Given the description of an element on the screen output the (x, y) to click on. 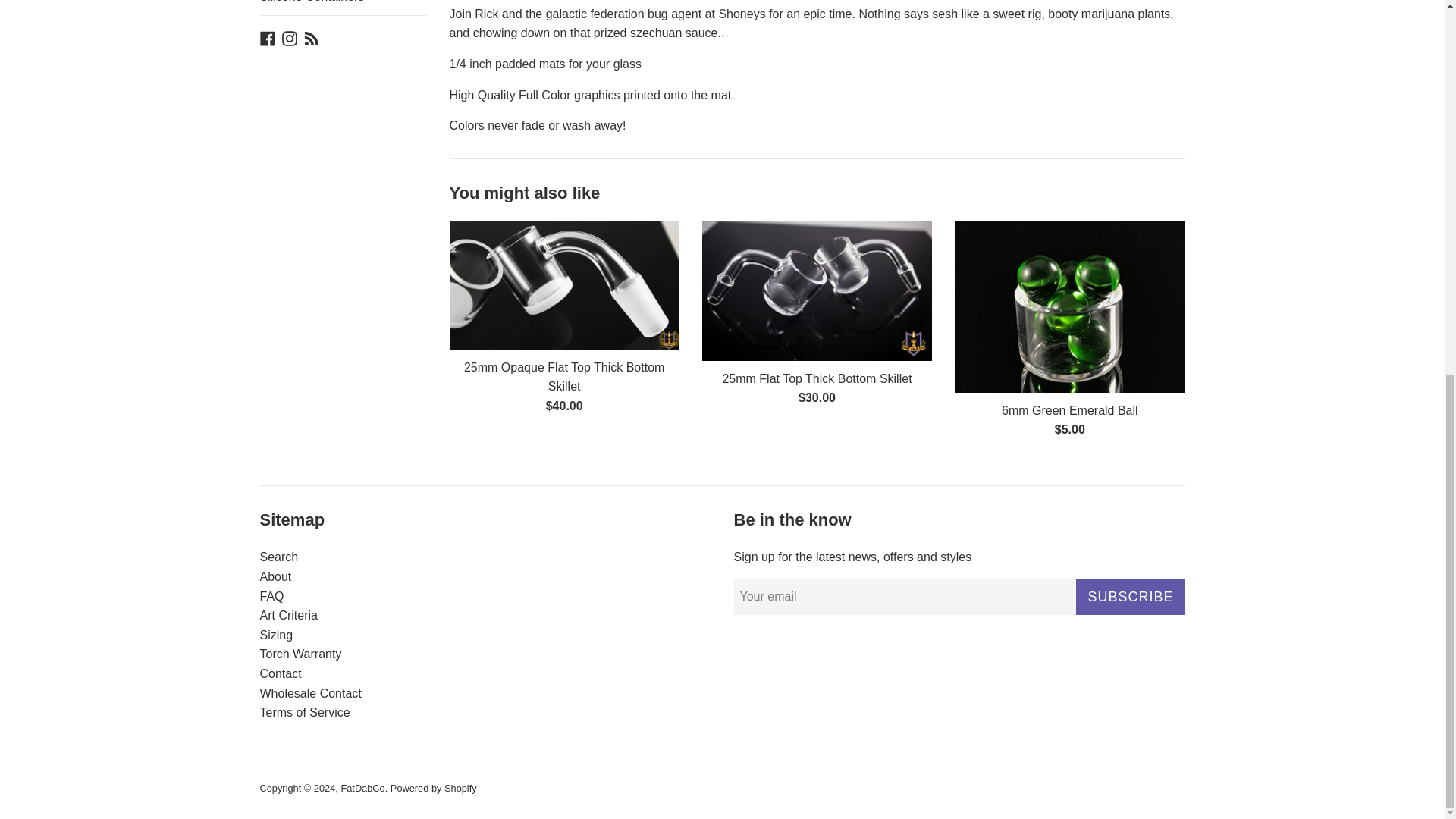
FatDabCo on Instagram (289, 37)
25mm Opaque Flat Top Thick Bottom Skillet (563, 377)
25mm Flat Top Thick Bottom Skillet (816, 378)
6mm Green Emerald Ball (1070, 306)
Silicone Containers (342, 7)
Instagram (289, 37)
25mm Flat Top Thick Bottom Skillet (816, 290)
25mm Opaque Flat Top Thick Bottom Skillet (563, 284)
Facebook (267, 37)
FatDabCo on Facebook (267, 37)
Blog (311, 37)
